Given the description of an element on the screen output the (x, y) to click on. 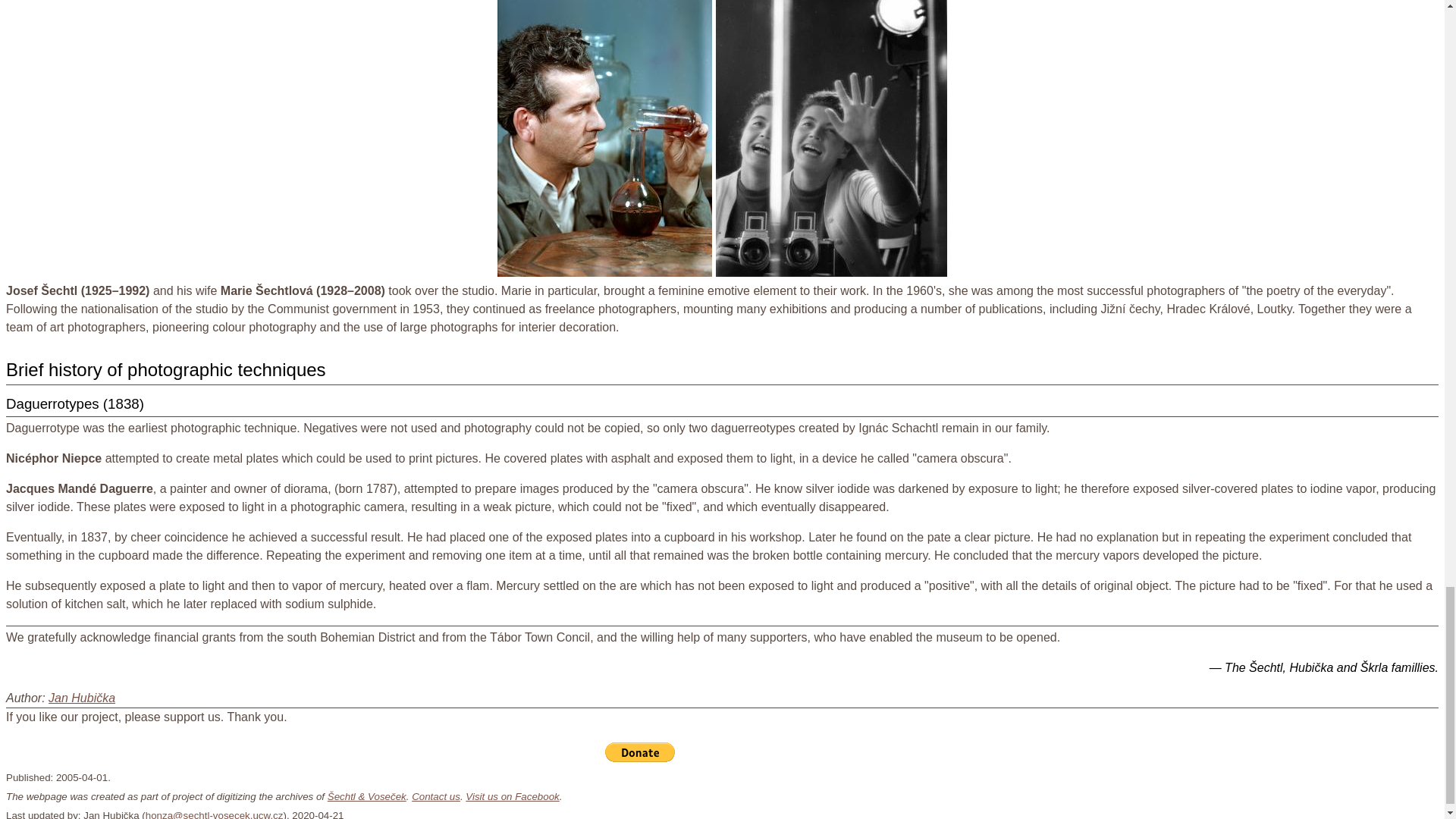
Visit us on Facebook (512, 796)
Contact us (436, 796)
